Given the description of an element on the screen output the (x, y) to click on. 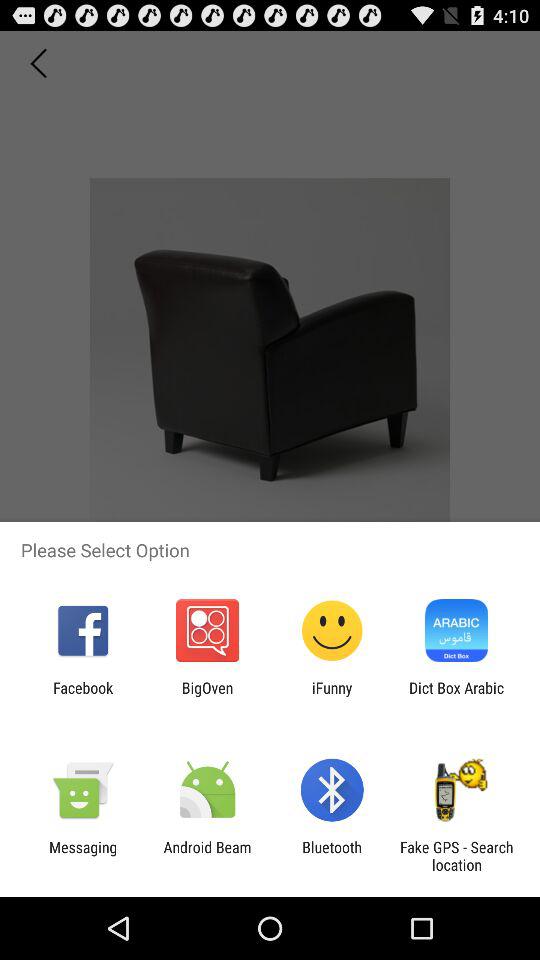
turn off item next to the ifunny app (207, 696)
